Given the description of an element on the screen output the (x, y) to click on. 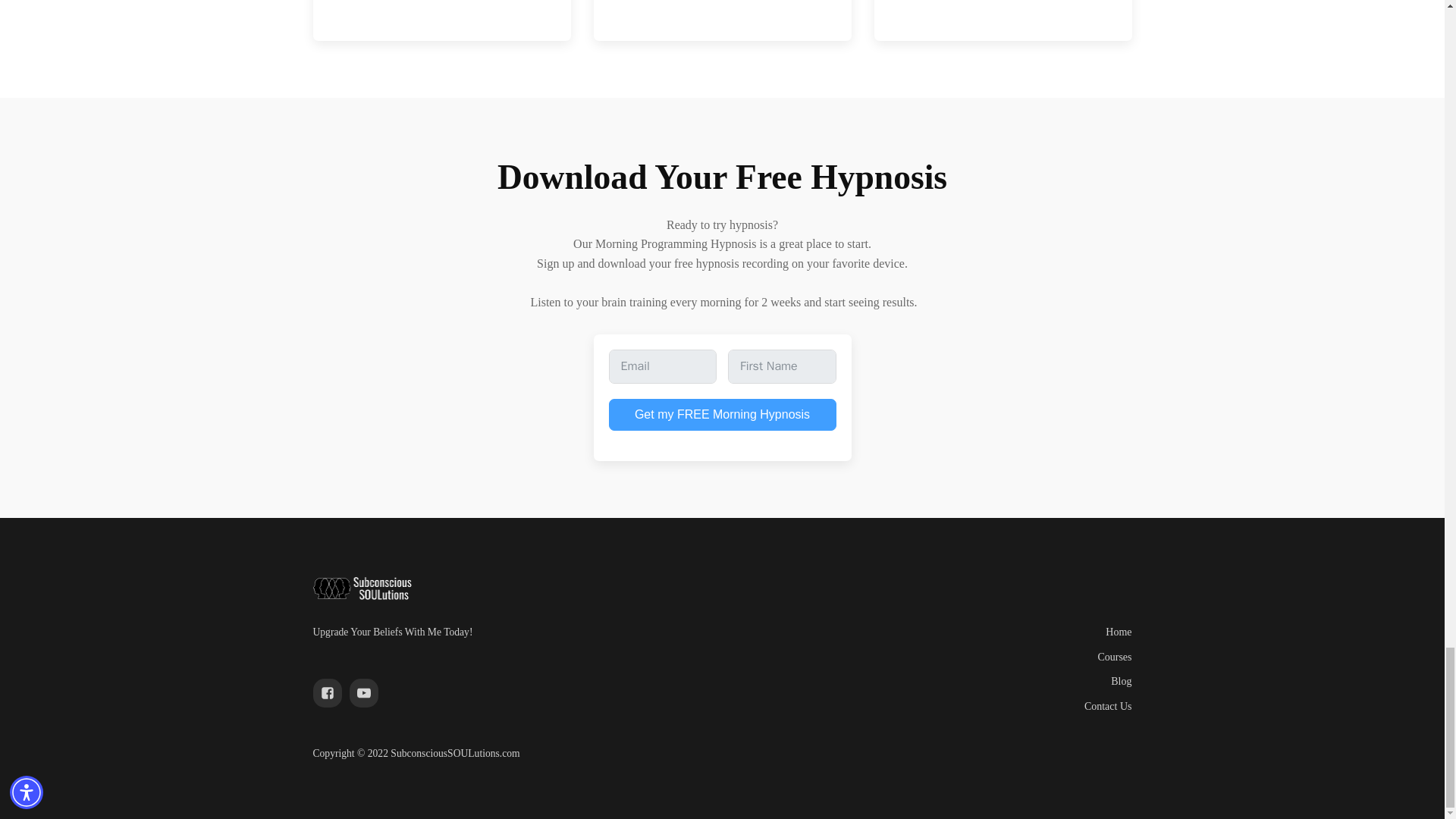
Contact Us (1108, 706)
Home (1118, 632)
Blog (1120, 681)
Courses (1114, 657)
Get my FREE Morning Hypnosis (721, 414)
